Given the description of an element on the screen output the (x, y) to click on. 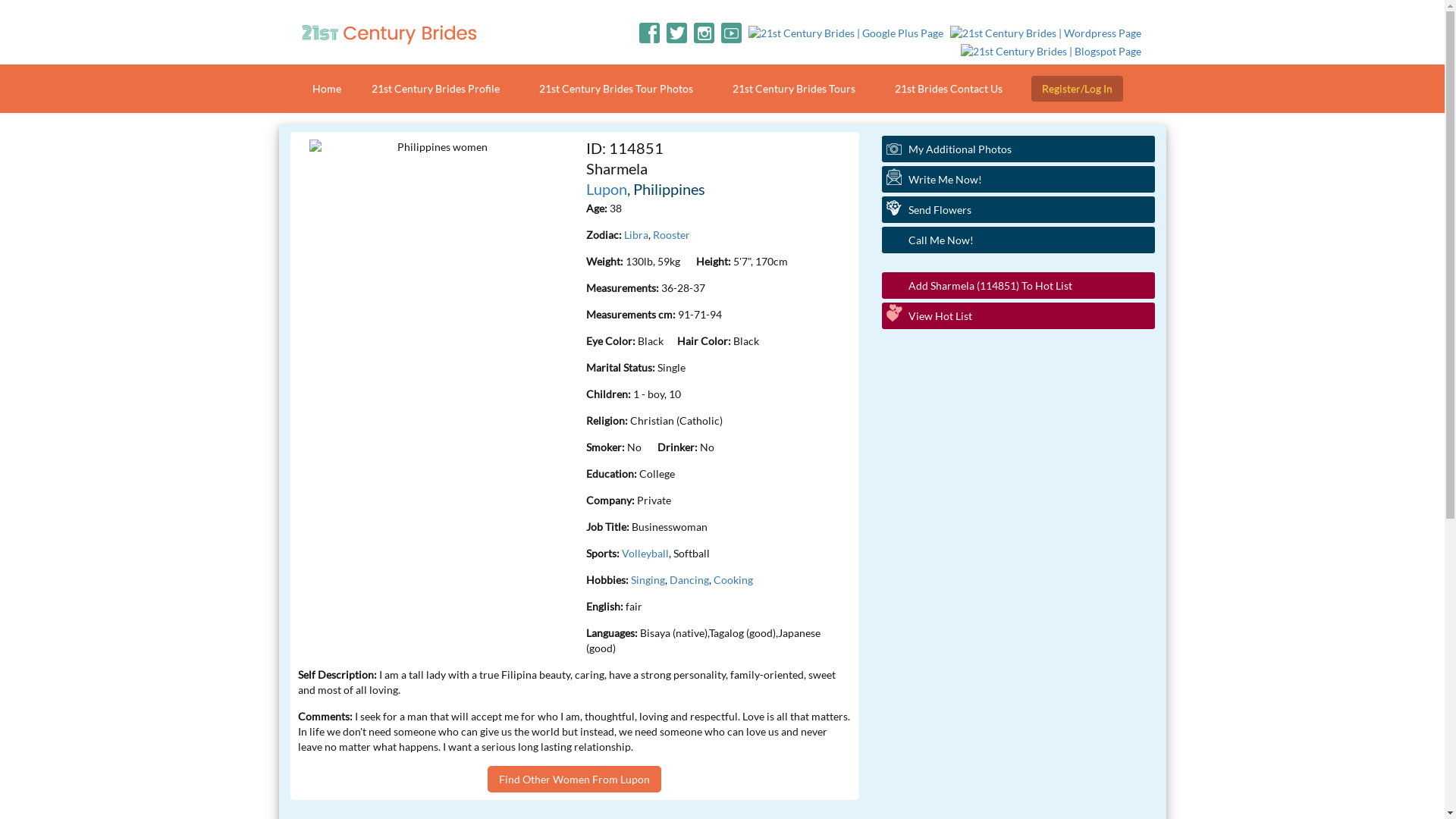
My Additional Photos Element type: text (1017, 148)
Call Me Now! Element type: text (1017, 239)
Add Sharmela (114851) To Hot List Element type: text (1017, 285)
Cooking Element type: text (732, 579)
21st Century Brides Tour Photos Element type: text (614, 88)
Libra Element type: text (635, 234)
21st Century Brides Tours Element type: text (793, 88)
Home Element type: text (326, 88)
Register/Log In Element type: text (1077, 88)
Lupon Element type: text (605, 188)
Find Other Women From Lupon Element type: text (574, 778)
21st Brides Contact Us Element type: text (948, 88)
Write Me Now! Element type: text (1017, 179)
Volleyball Element type: text (644, 552)
Dancing Element type: text (688, 579)
View Hot List Element type: text (1017, 315)
21st Century Brides Profile Element type: text (435, 88)
Rooster Element type: text (670, 234)
Singing Element type: text (647, 579)
Send Flowers Element type: text (1017, 209)
